Given the description of an element on the screen output the (x, y) to click on. 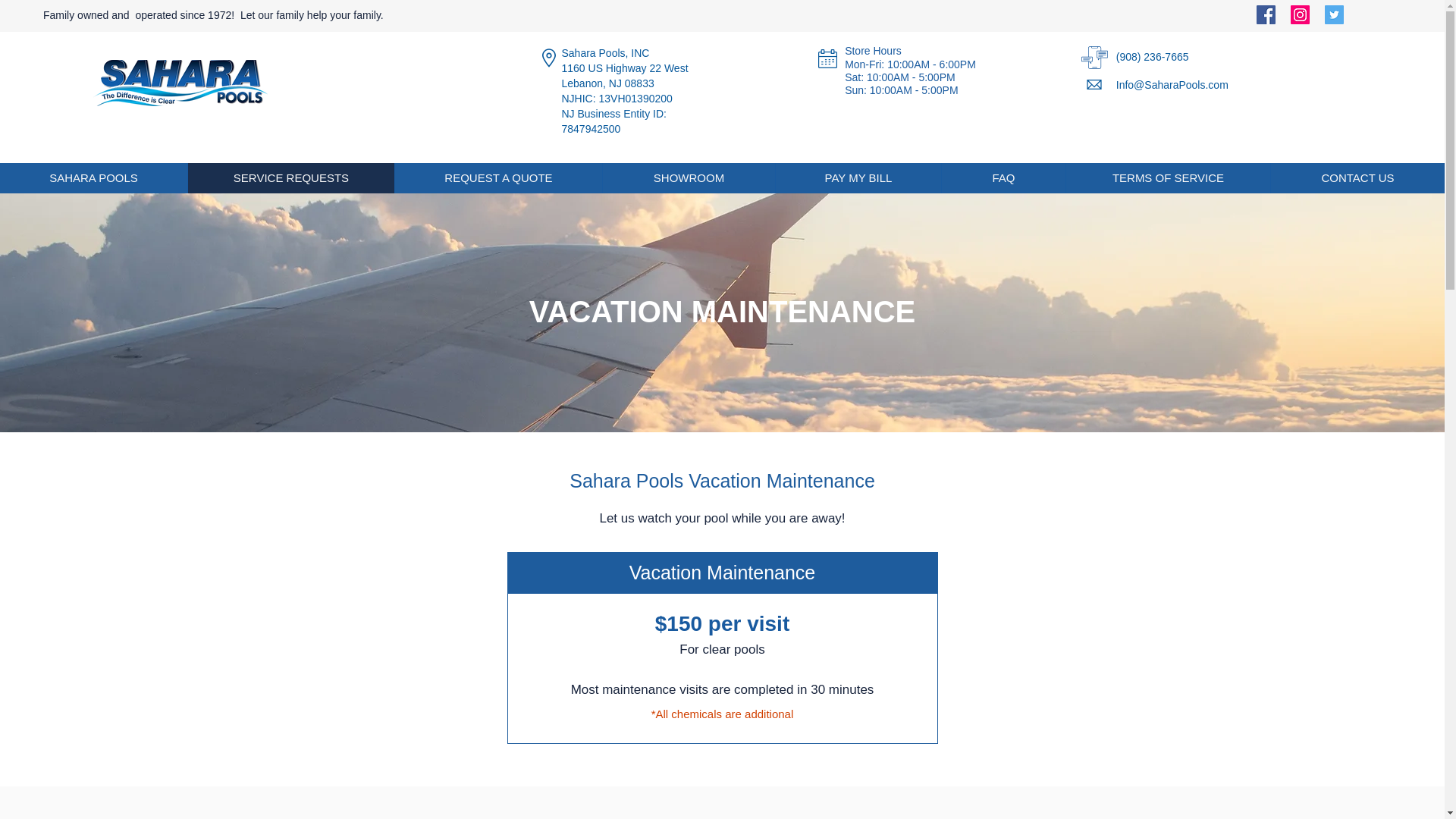
TERMS OF SERVICE (1167, 177)
SAHARA POOLS (93, 177)
REQUEST A QUOTE (498, 177)
SHOWROOM (688, 177)
FAQ (1002, 177)
SERVICE REQUESTS (290, 177)
PAY MY BILL (857, 177)
